Given the description of an element on the screen output the (x, y) to click on. 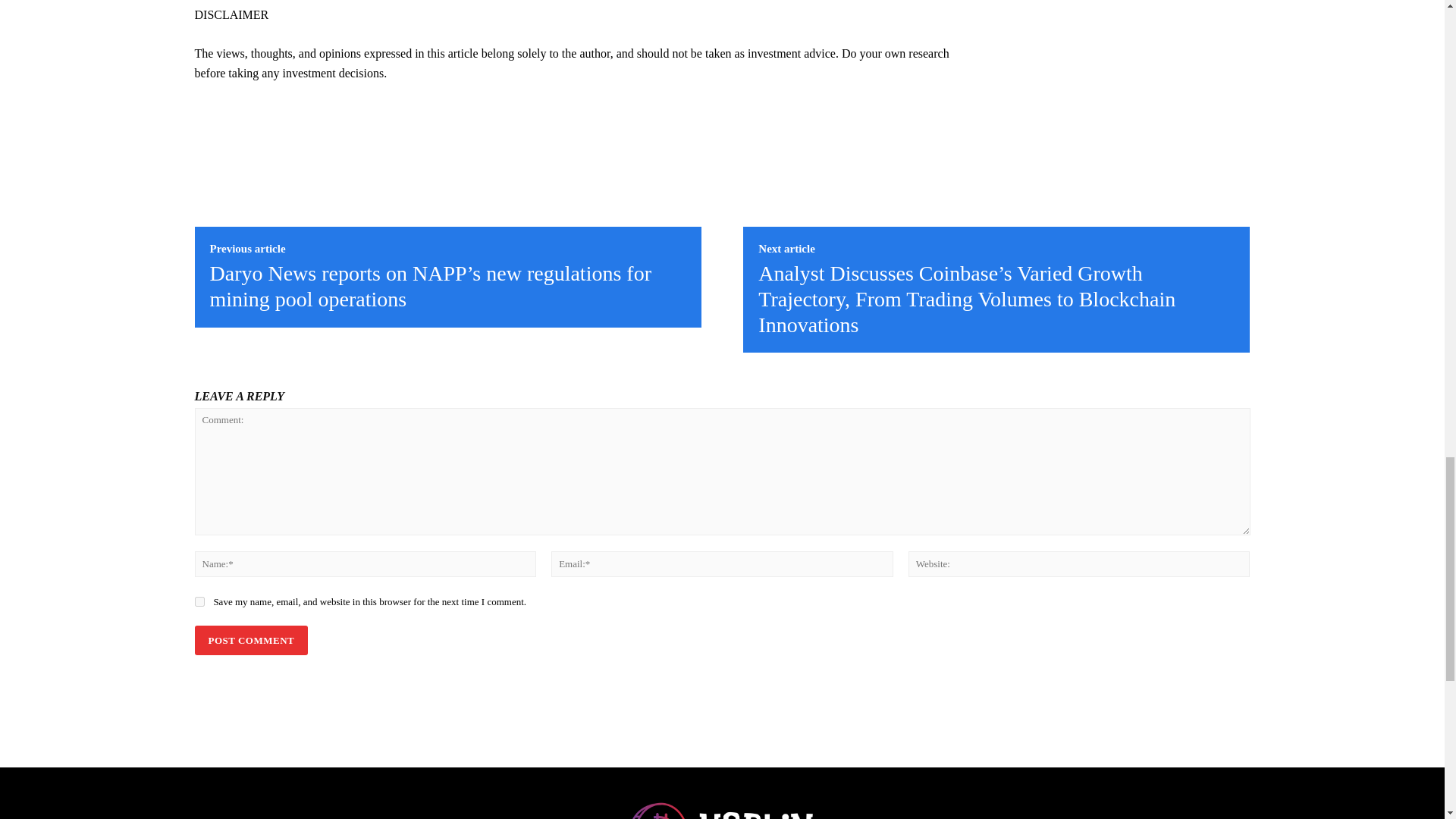
Post Comment (250, 640)
yes (198, 601)
